Given the description of an element on the screen output the (x, y) to click on. 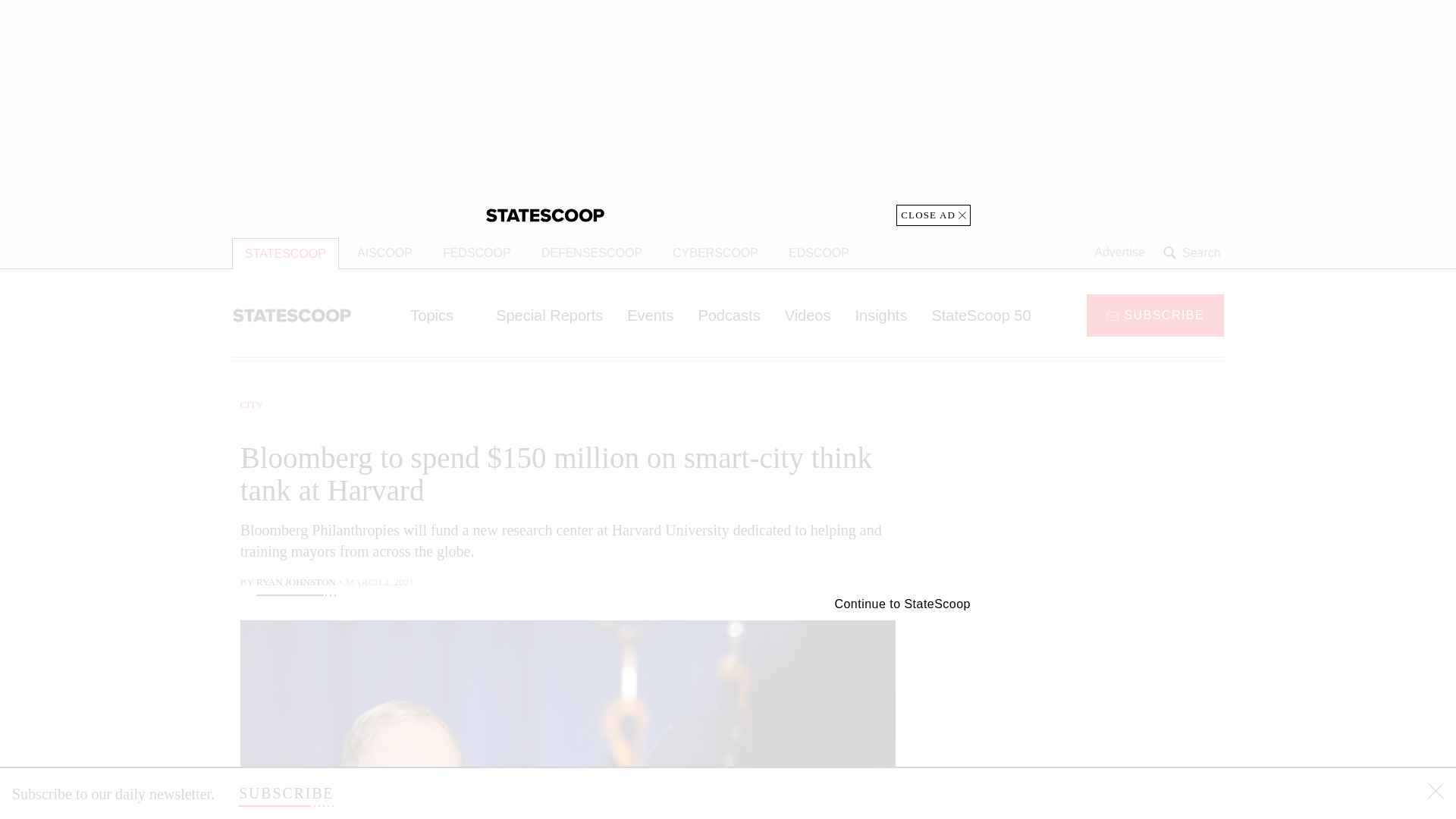
FEDSCOOP (476, 253)
Events (649, 315)
Topics (440, 315)
RYAN JOHNSTON (296, 583)
CITY (251, 404)
SUBSCRIBE (1155, 314)
Search (1193, 252)
3rd party ad content (1101, 492)
Ryan Johnston (296, 583)
